Given the description of an element on the screen output the (x, y) to click on. 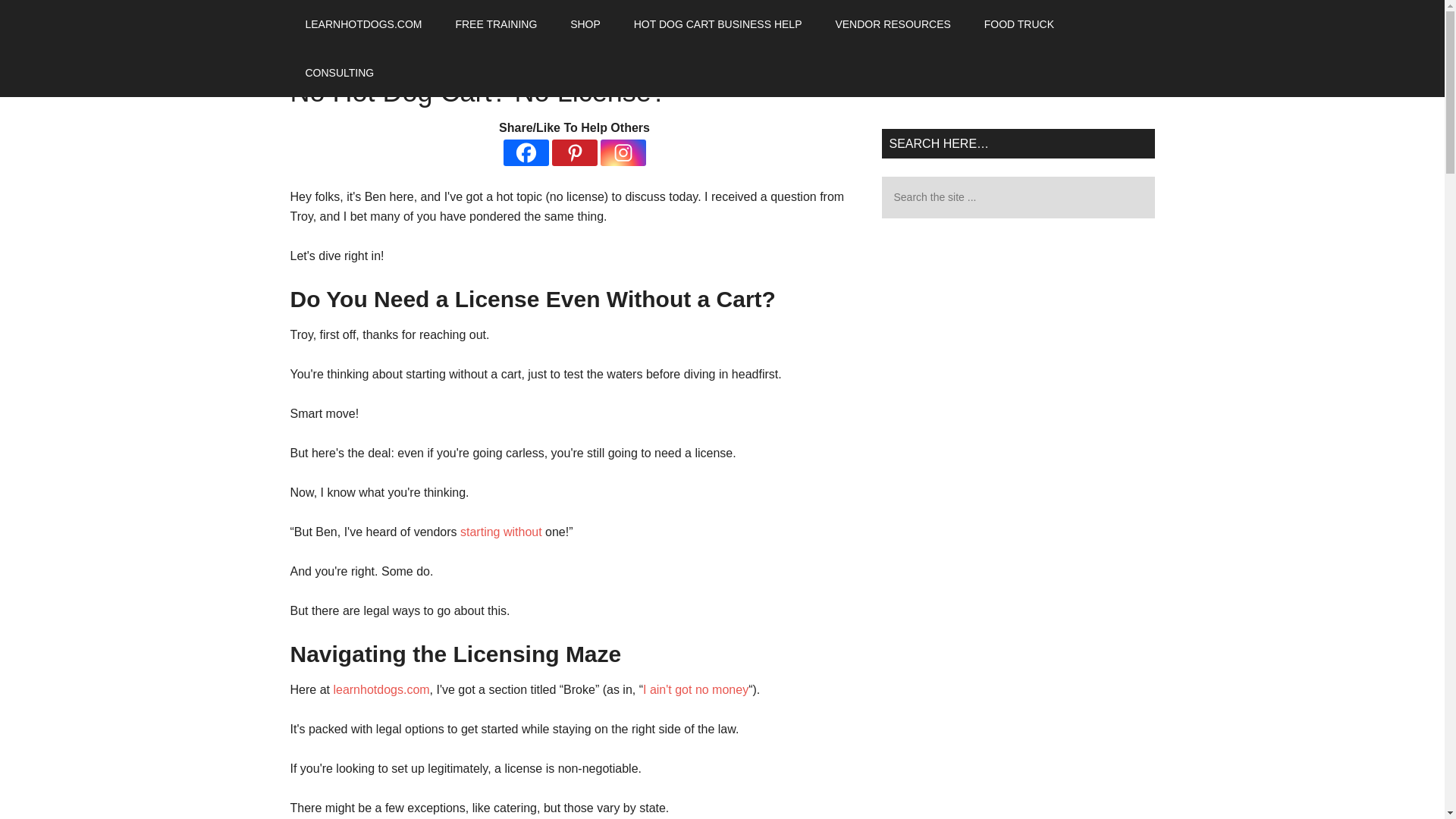
Pinterest (573, 152)
HOT DOG CART BUSINESS HELP (717, 24)
VENDOR RESOURCES (892, 24)
Instagram (622, 152)
Facebook (525, 152)
I ain't got no money (695, 689)
FOOD TRUCK (1018, 24)
CONSULTING (338, 72)
LEARNHOTDOGS.COM (362, 24)
SHOP (584, 24)
learnhotdogs.com (381, 689)
FREE TRAINING (495, 24)
